Given the description of an element on the screen output the (x, y) to click on. 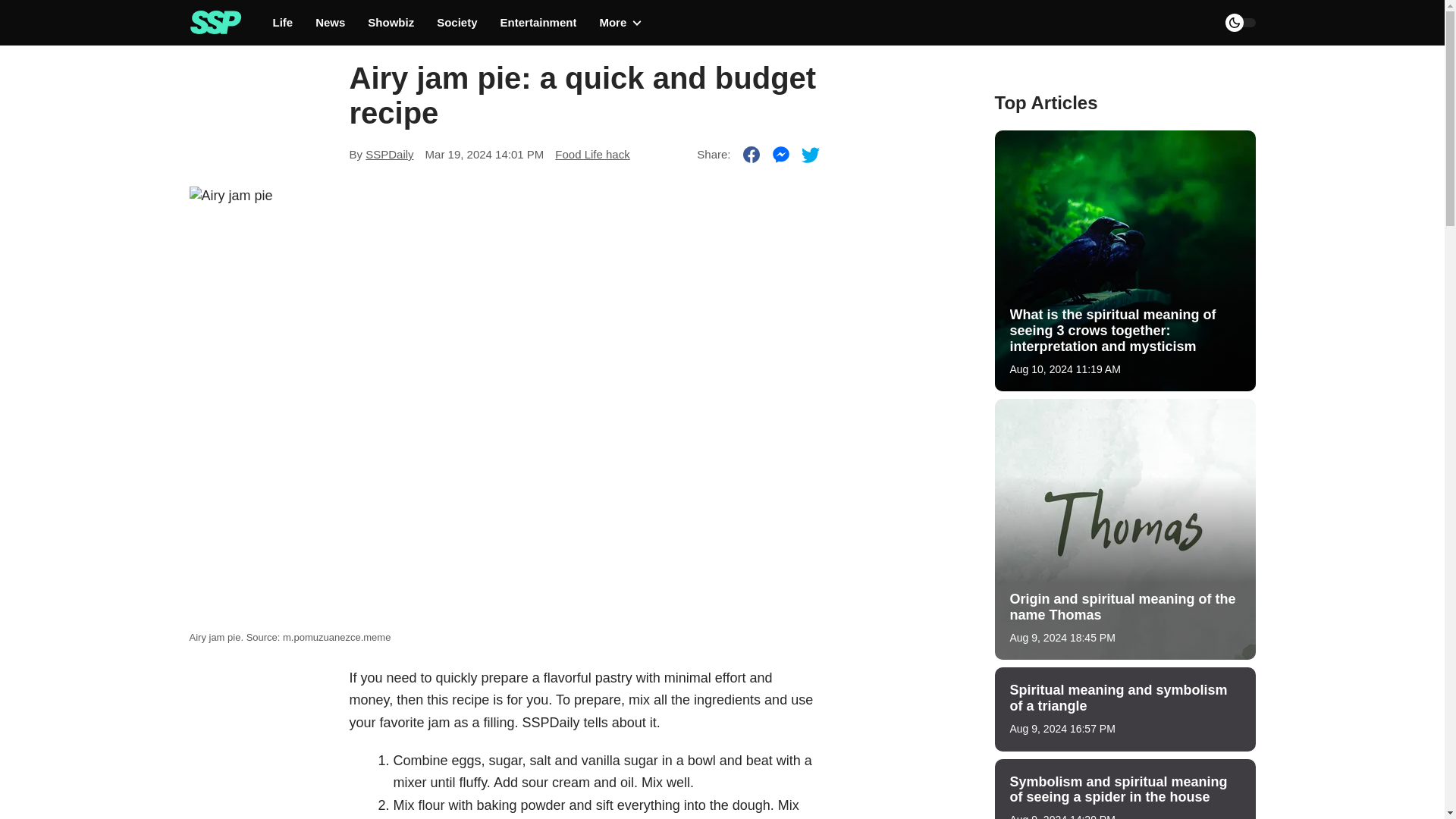
Food Life hack (591, 154)
Showbiz (390, 22)
News (330, 22)
Life (283, 22)
SSPDaily (389, 154)
Society (456, 22)
Entertainment (538, 22)
